Given the description of an element on the screen output the (x, y) to click on. 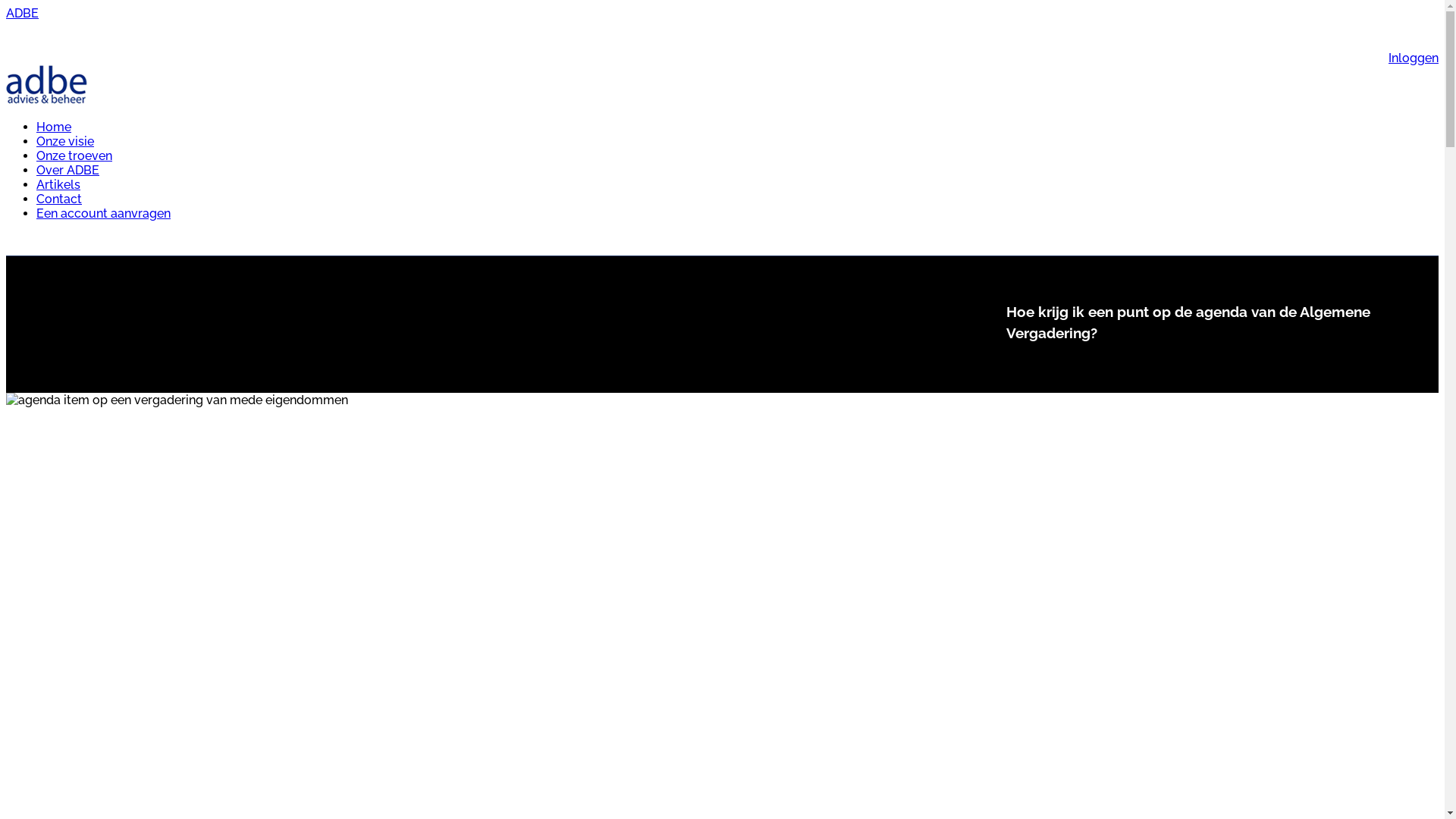
Home Element type: text (53, 126)
Een account aanvragen Element type: text (103, 213)
Onze troeven Element type: text (74, 155)
Inloggen Element type: text (1413, 57)
Contact Element type: text (58, 198)
ADBE Element type: text (22, 13)
Onze visie Element type: text (65, 141)
Artikels Element type: text (58, 184)
Over ADBE Element type: text (67, 170)
